Given the description of an element on the screen output the (x, y) to click on. 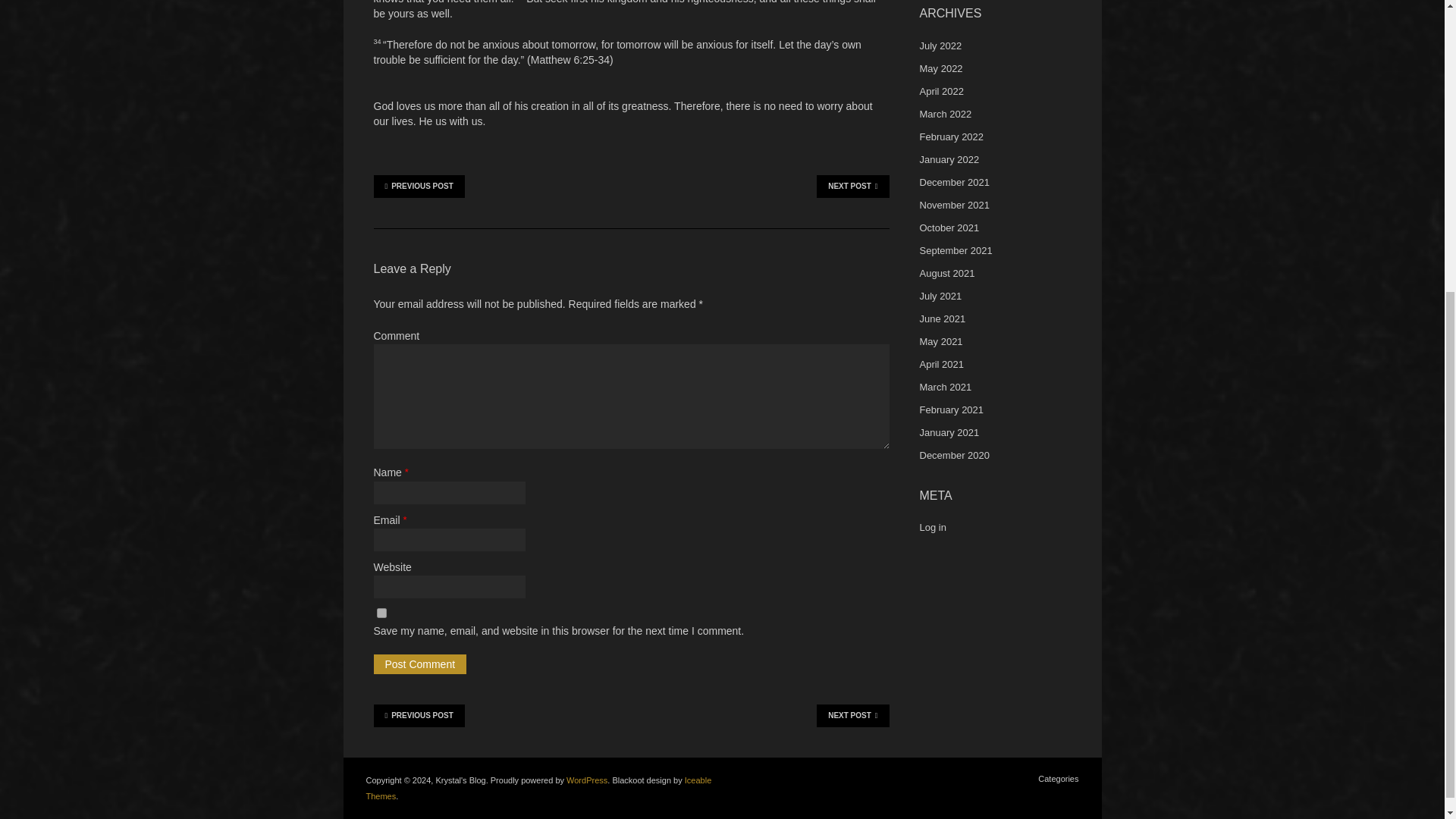
Free and Premium WordPress Themes (538, 787)
August 2021 (946, 273)
February 2021 (951, 409)
February 2022 (951, 136)
July 2021 (939, 296)
October 2021 (948, 227)
January 2022 (948, 159)
May 2022 (940, 68)
Semantic Personal Publishing Platform (586, 779)
April 2022 (940, 91)
Post Comment (418, 664)
September 2021 (954, 250)
NEXT POST (852, 186)
June 2021 (941, 318)
July 2022 (939, 45)
